Given the description of an element on the screen output the (x, y) to click on. 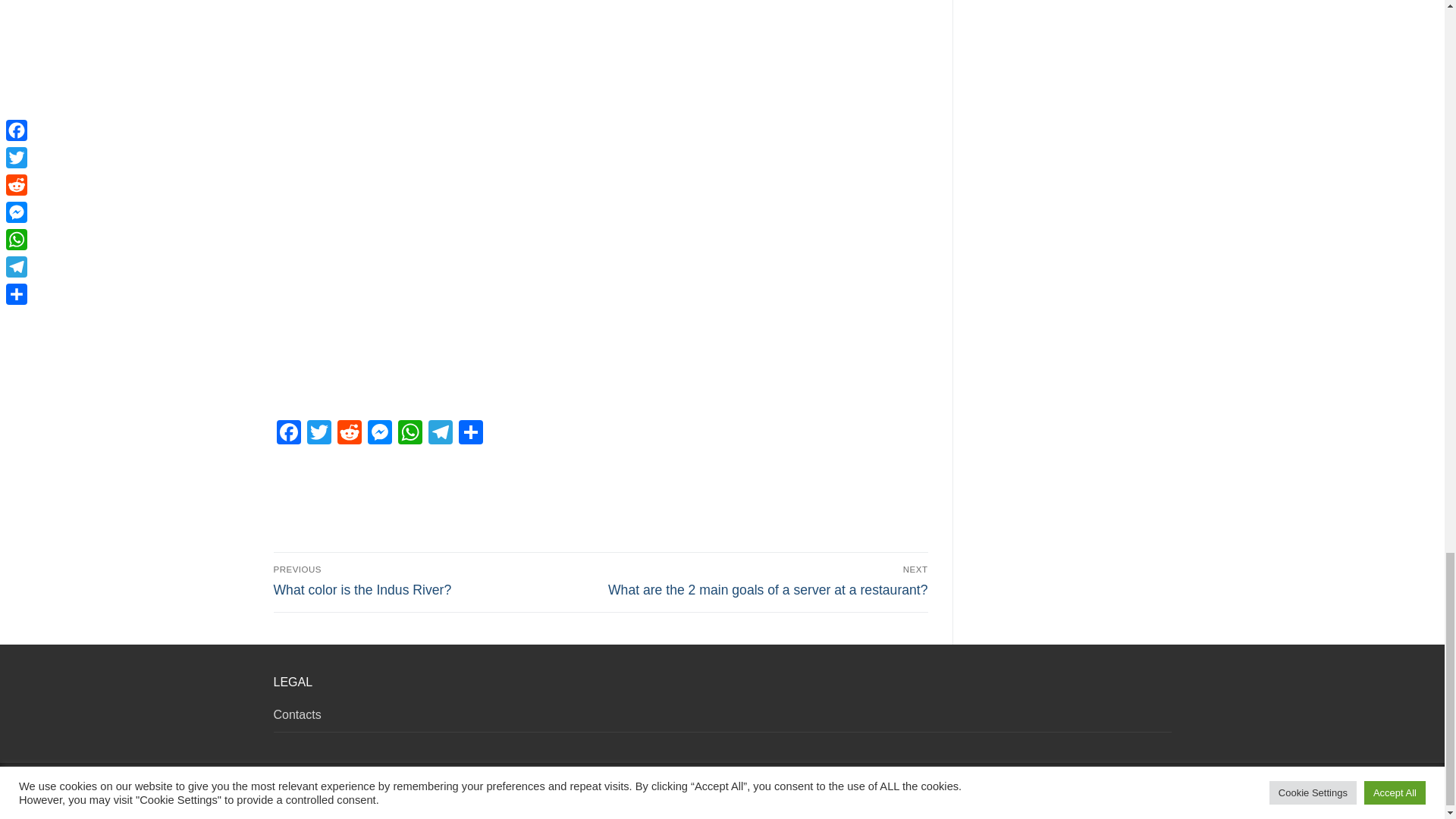
Facebook (287, 433)
Telegram (439, 433)
Twitter (317, 433)
Reddit (348, 433)
WhatsApp (409, 433)
Messenger (379, 433)
Messenger (379, 433)
WhatsApp (409, 433)
Twitter (317, 433)
